Given the description of an element on the screen output the (x, y) to click on. 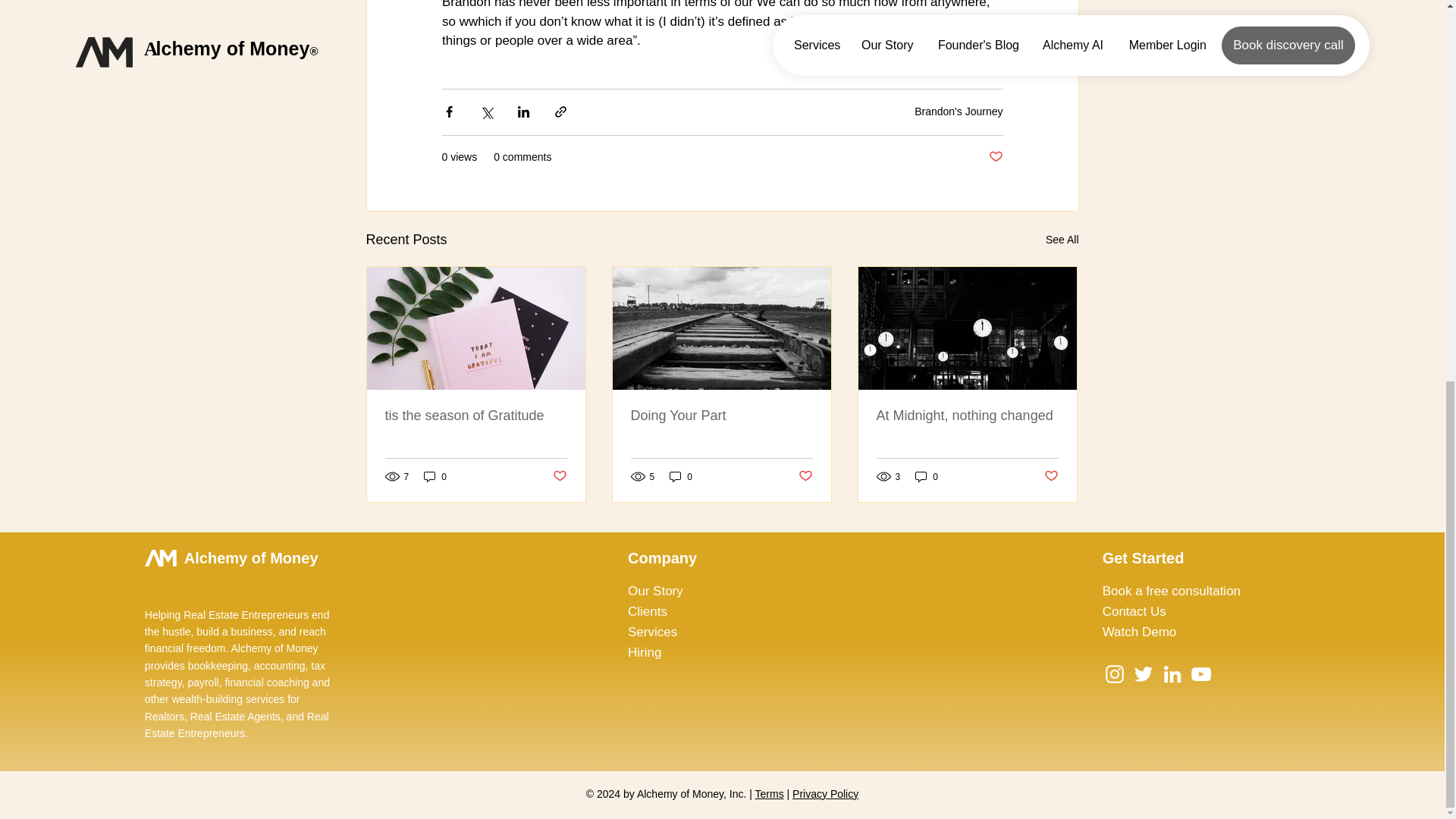
Post not marked as liked (558, 476)
Doing Your Part (721, 415)
Post not marked as liked (804, 476)
0 (435, 476)
0 (681, 476)
Brandon's Journey (958, 111)
tis the season of Gratitude (476, 415)
At Midnight, nothing changed (967, 415)
0 (926, 476)
See All (1061, 239)
